Given the description of an element on the screen output the (x, y) to click on. 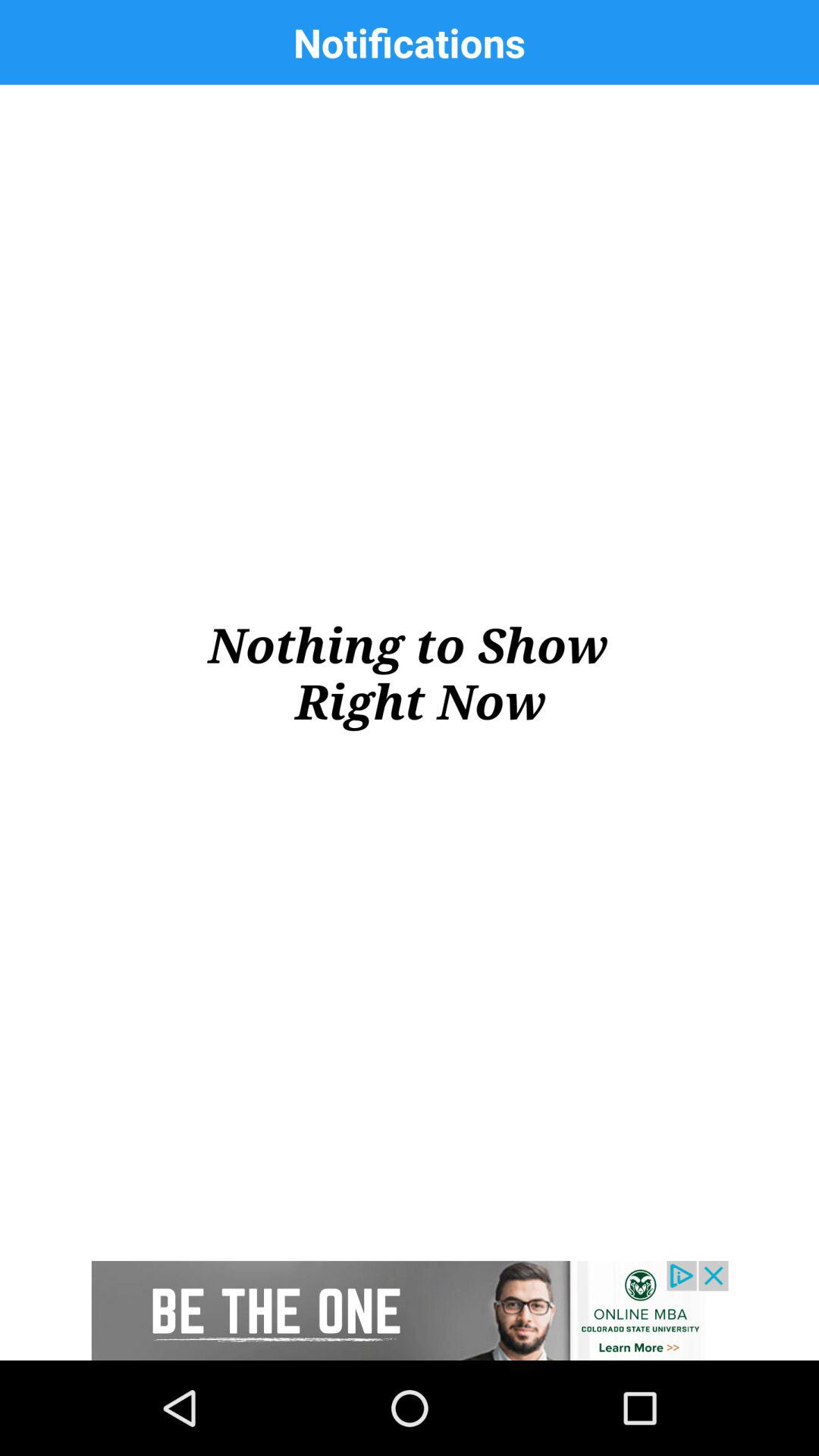
select advertisement (409, 1310)
